Given the description of an element on the screen output the (x, y) to click on. 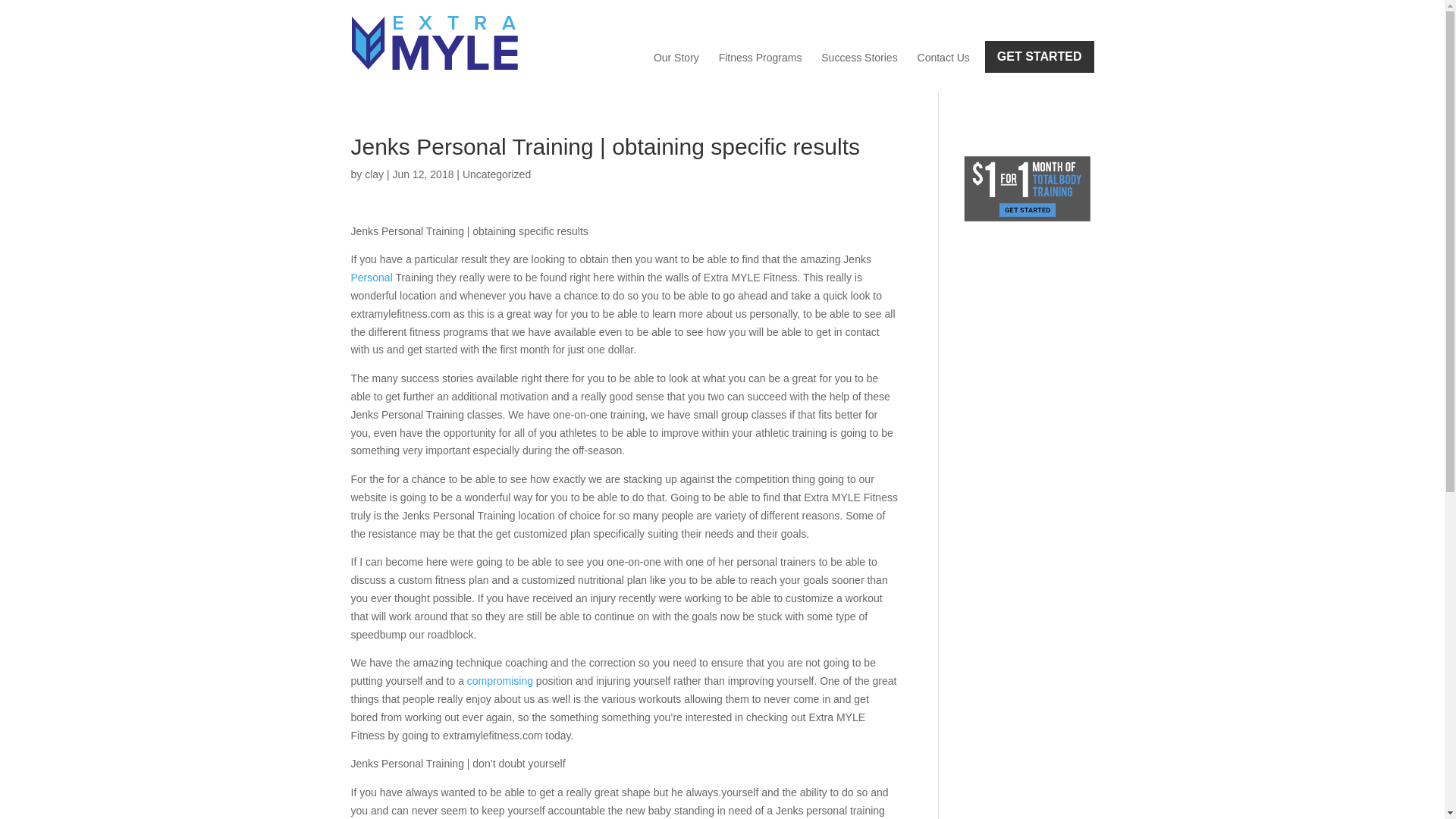
Contact Us (943, 57)
Our Story (675, 57)
Posts by clay (374, 174)
GET STARTED (1039, 56)
Success Stories (858, 57)
compromising (499, 680)
Personal (370, 277)
clay (374, 174)
Fitness Programs (760, 57)
